Given the description of an element on the screen output the (x, y) to click on. 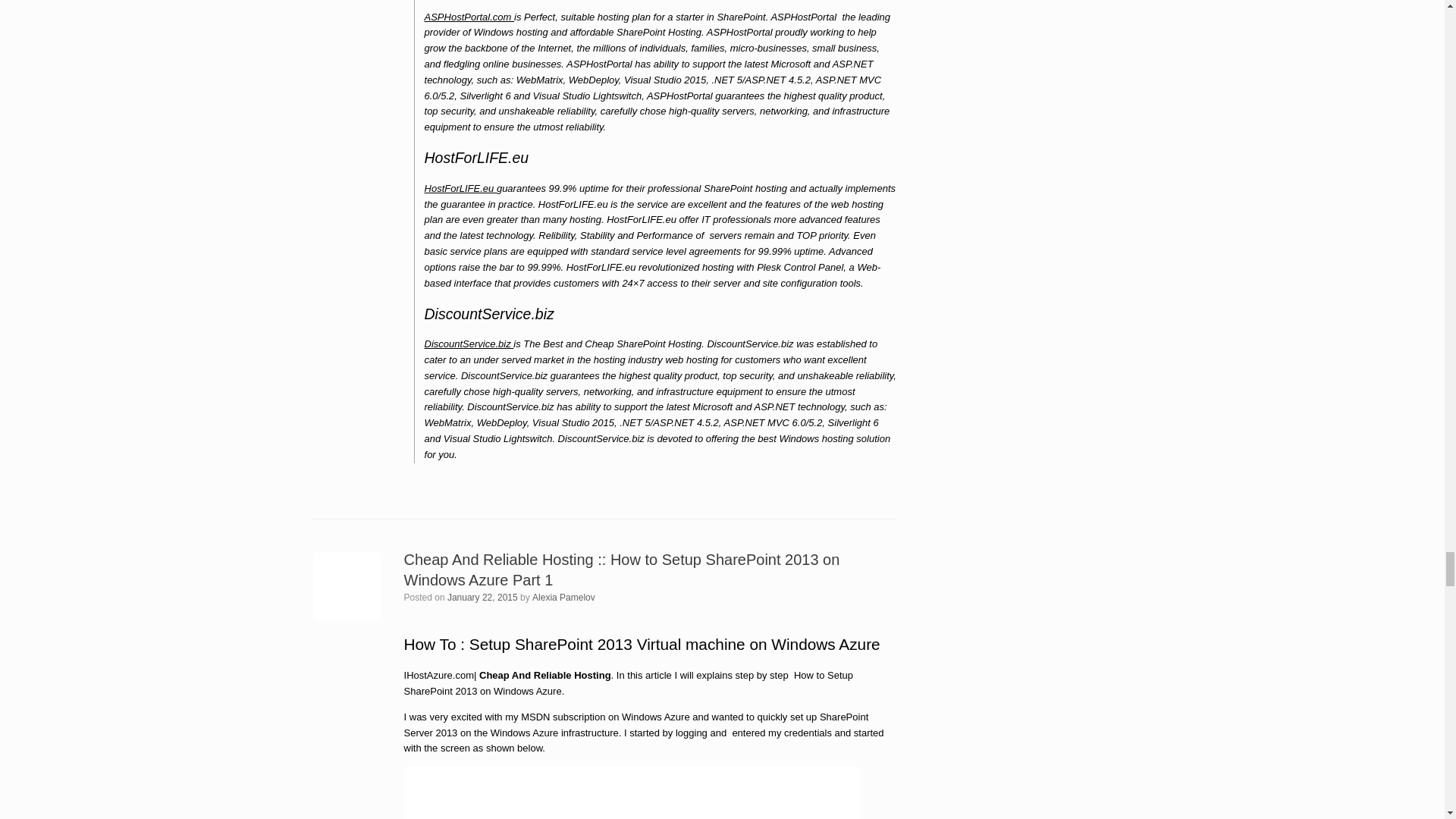
3:14 am (482, 597)
View all posts by Alexia Pamelov (563, 597)
